Given the description of an element on the screen output the (x, y) to click on. 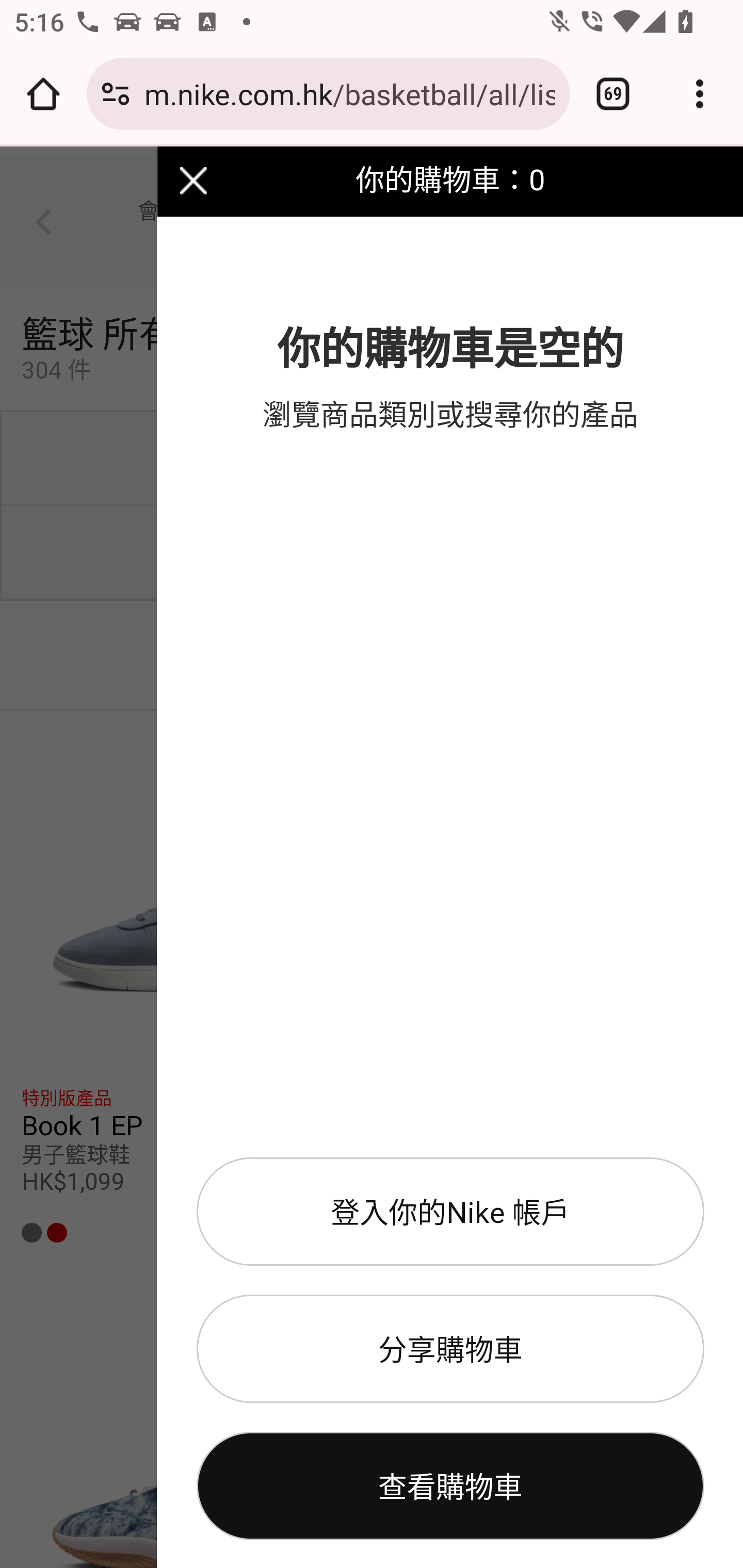
Open the home page (43, 93)
Connection is secure (115, 93)
Switch or close tabs (612, 93)
Customize and control Google Chrome (699, 93)
登入你的Nike 帳戶 (449, 1211)
查看購物車 (449, 1486)
